Given the description of an element on the screen output the (x, y) to click on. 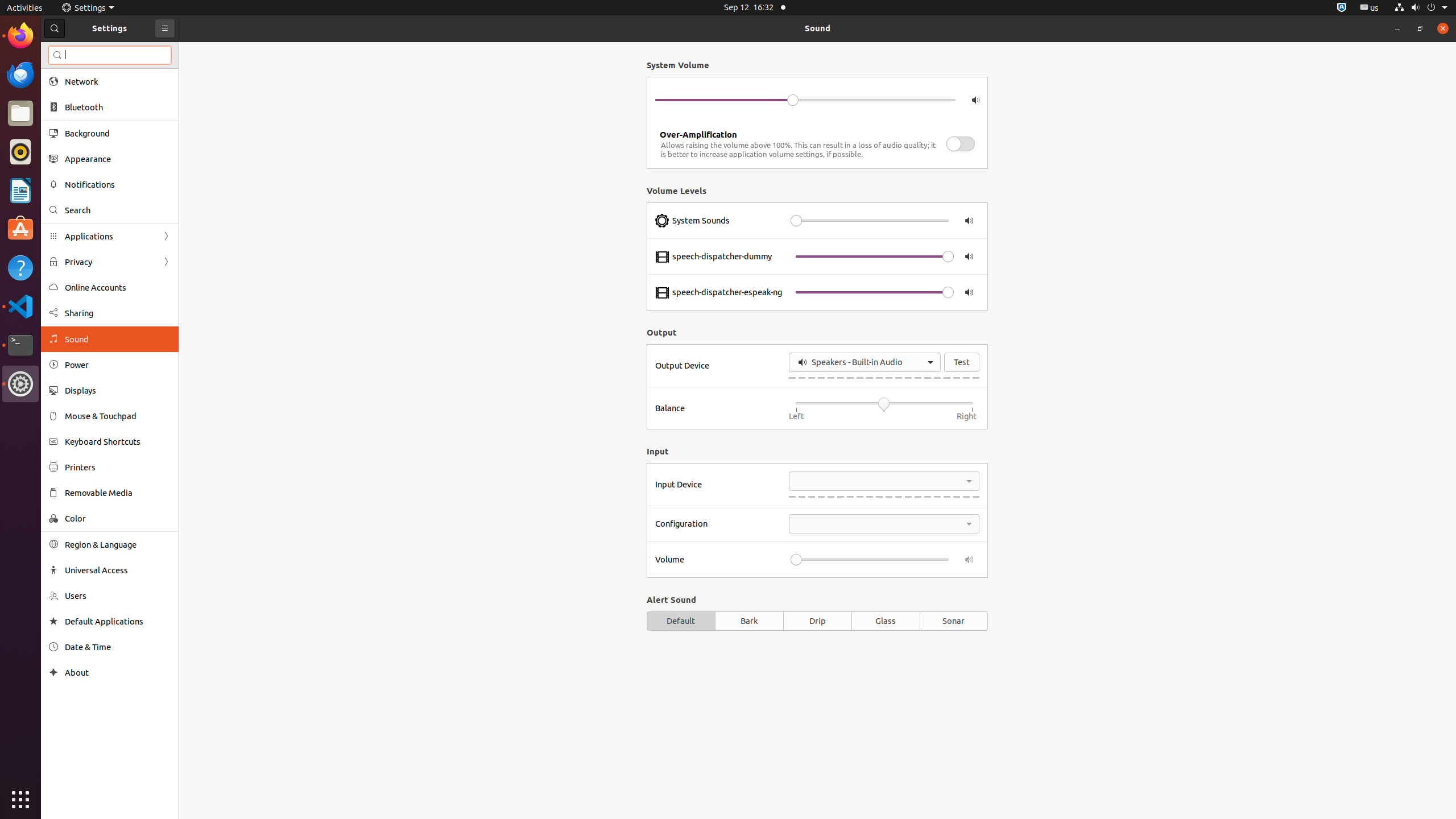
Bluetooth Element type: label (117, 107)
About Element type: icon (53, 672)
Output Element type: label (816, 332)
Color Element type: label (117, 518)
System Sounds Element type: label (700, 220)
